Given the description of an element on the screen output the (x, y) to click on. 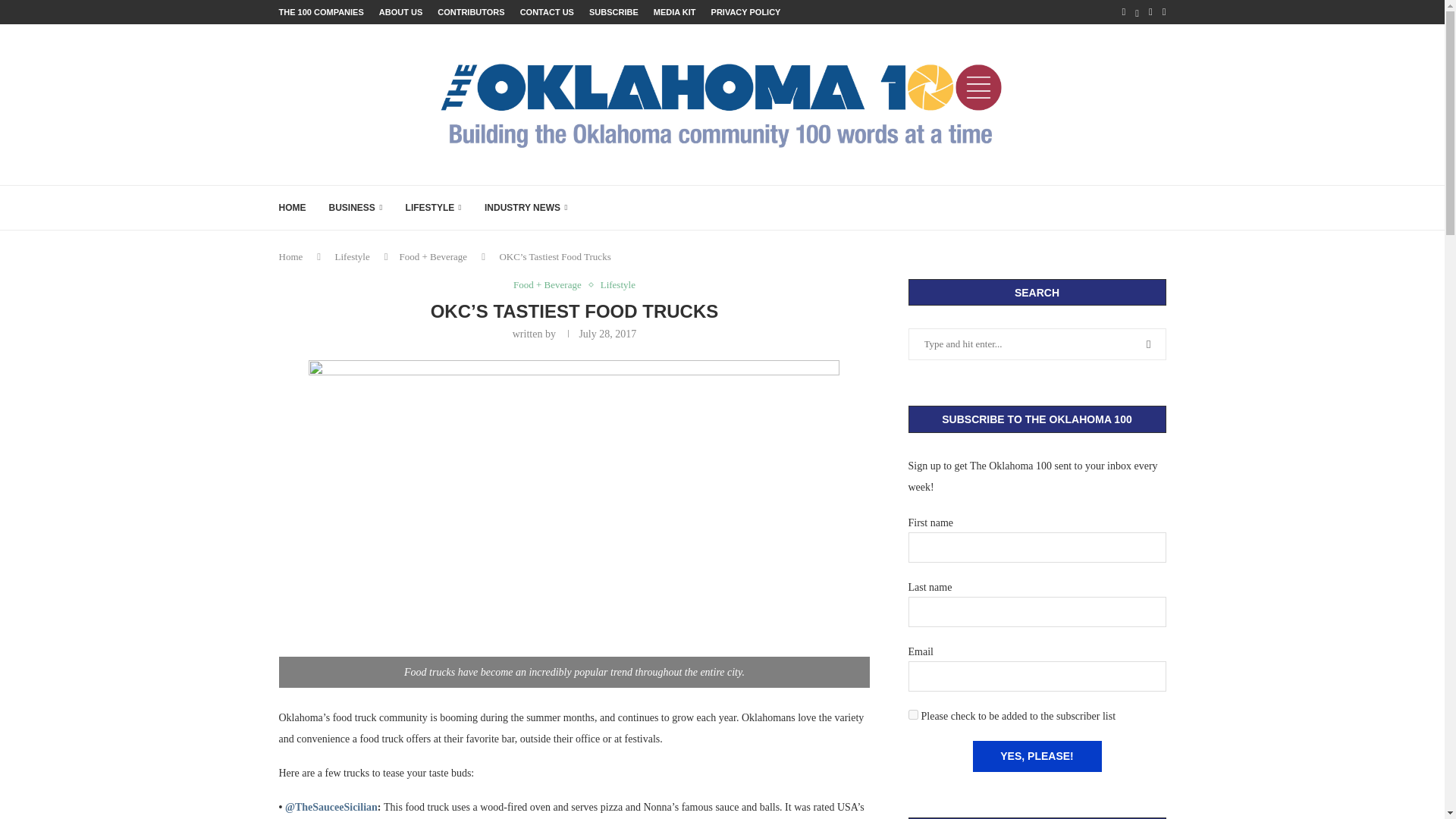
PRIVACY POLICY (745, 12)
SUBSCRIBE (614, 12)
BUSINESS (355, 207)
MEDIA KIT (674, 12)
CONTRIBUTORS (470, 12)
1 (913, 714)
YES, PLEASE! (1036, 756)
THE 100 COMPANIES (321, 12)
CONTACT US (546, 12)
ABOUT US (400, 12)
